Given the description of an element on the screen output the (x, y) to click on. 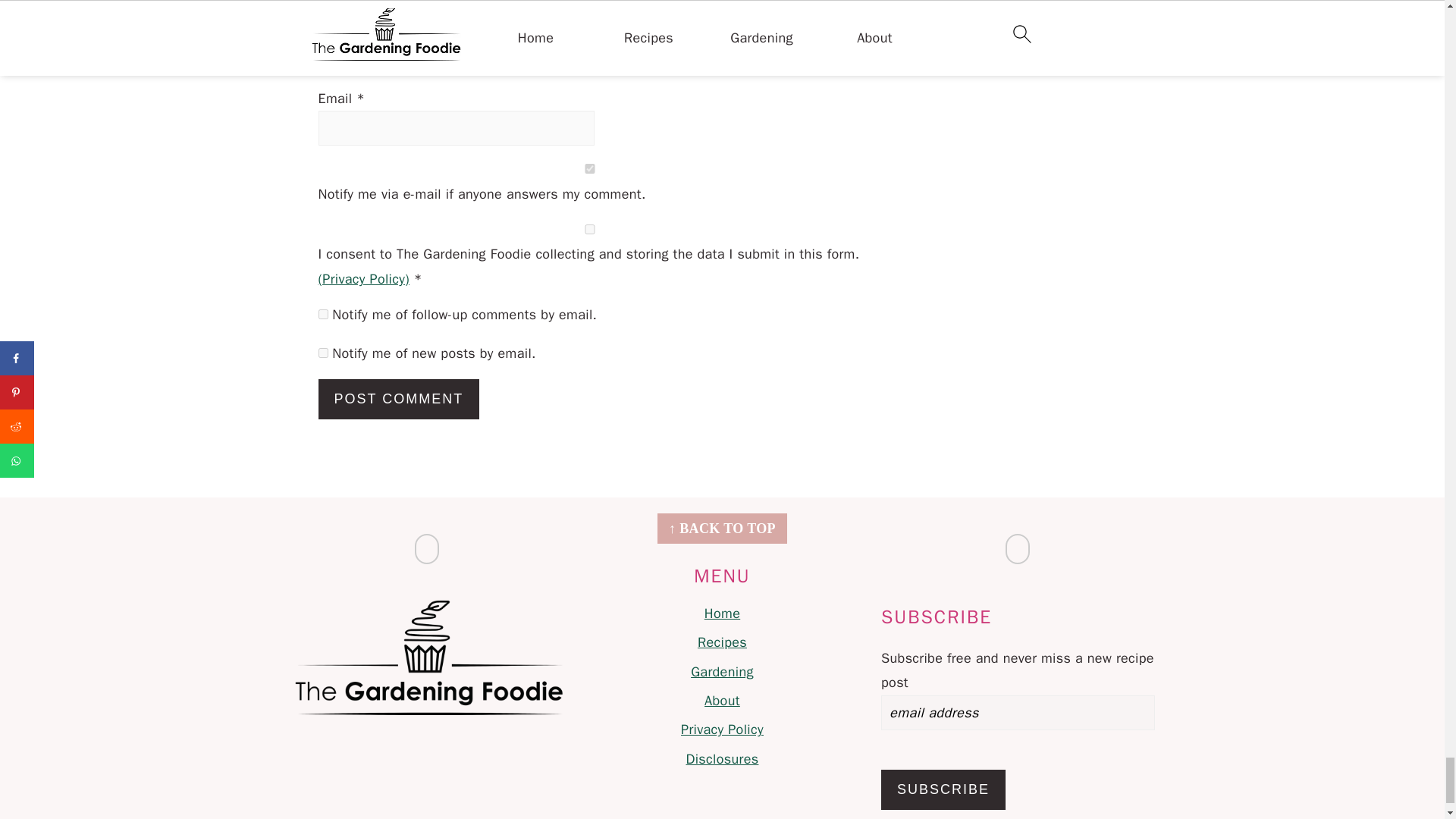
on (589, 168)
yes (589, 229)
subscribe (323, 352)
subscribe (323, 314)
Post Comment (399, 399)
Subscribe (943, 789)
